Given the description of an element on the screen output the (x, y) to click on. 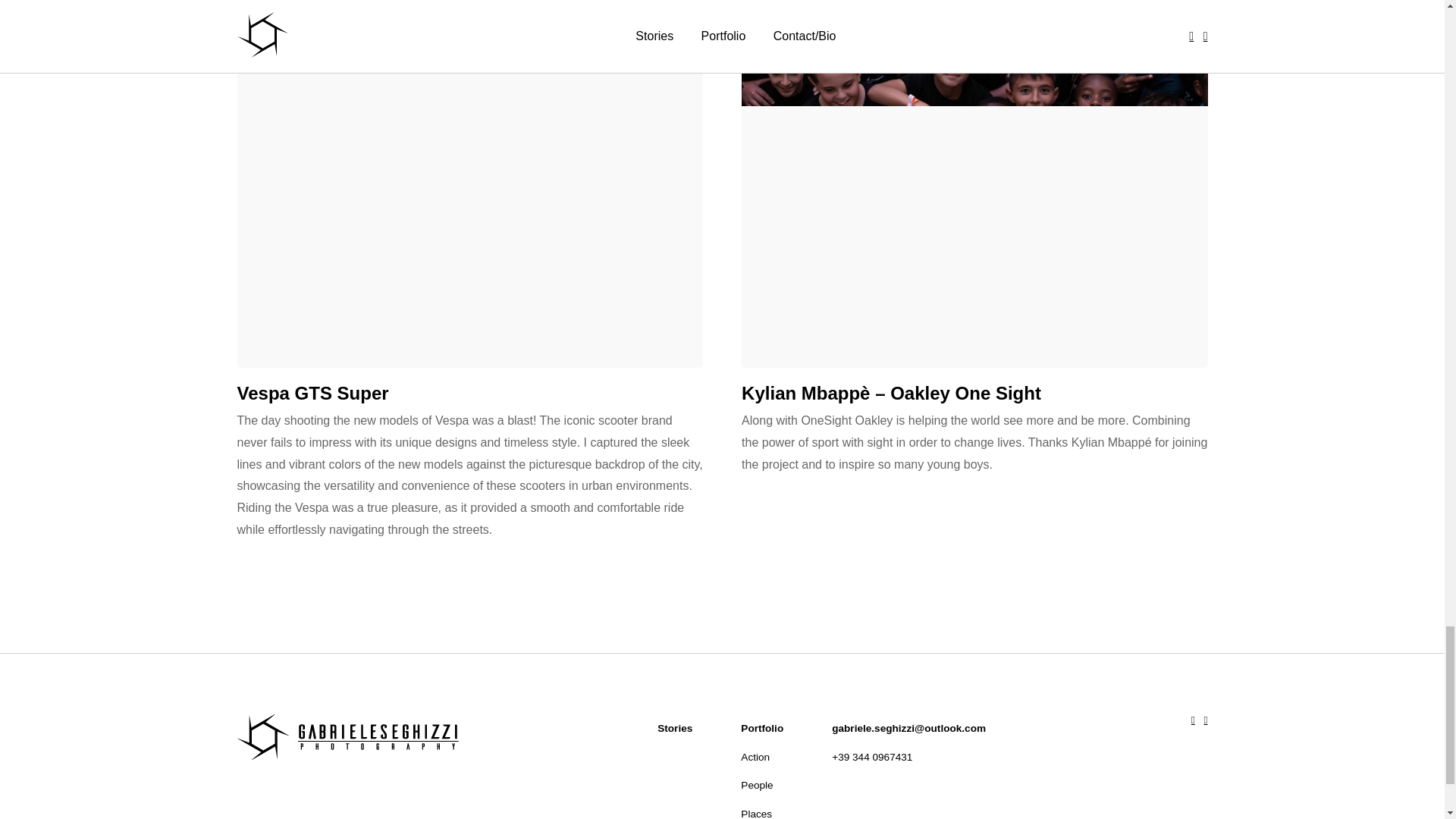
Stories (675, 728)
Go to Home Page (346, 737)
Action (762, 757)
People (762, 785)
